Given the description of an element on the screen output the (x, y) to click on. 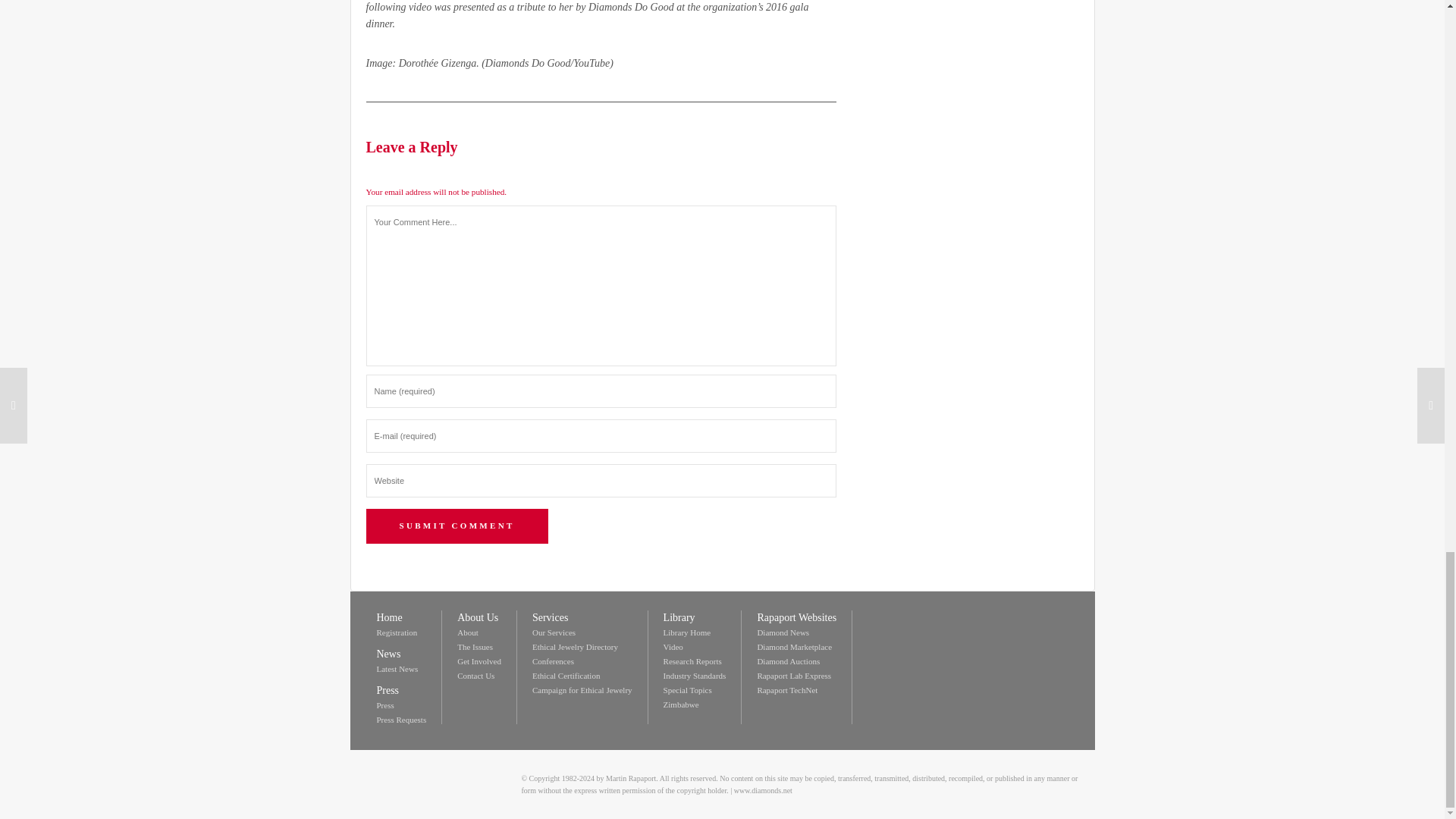
Press Requests (400, 718)
Latest News (396, 668)
Submit Comment (456, 525)
Registration (395, 632)
Twitter Follow Button (946, 618)
Press (384, 705)
Submit Comment (456, 525)
